Given the description of an element on the screen output the (x, y) to click on. 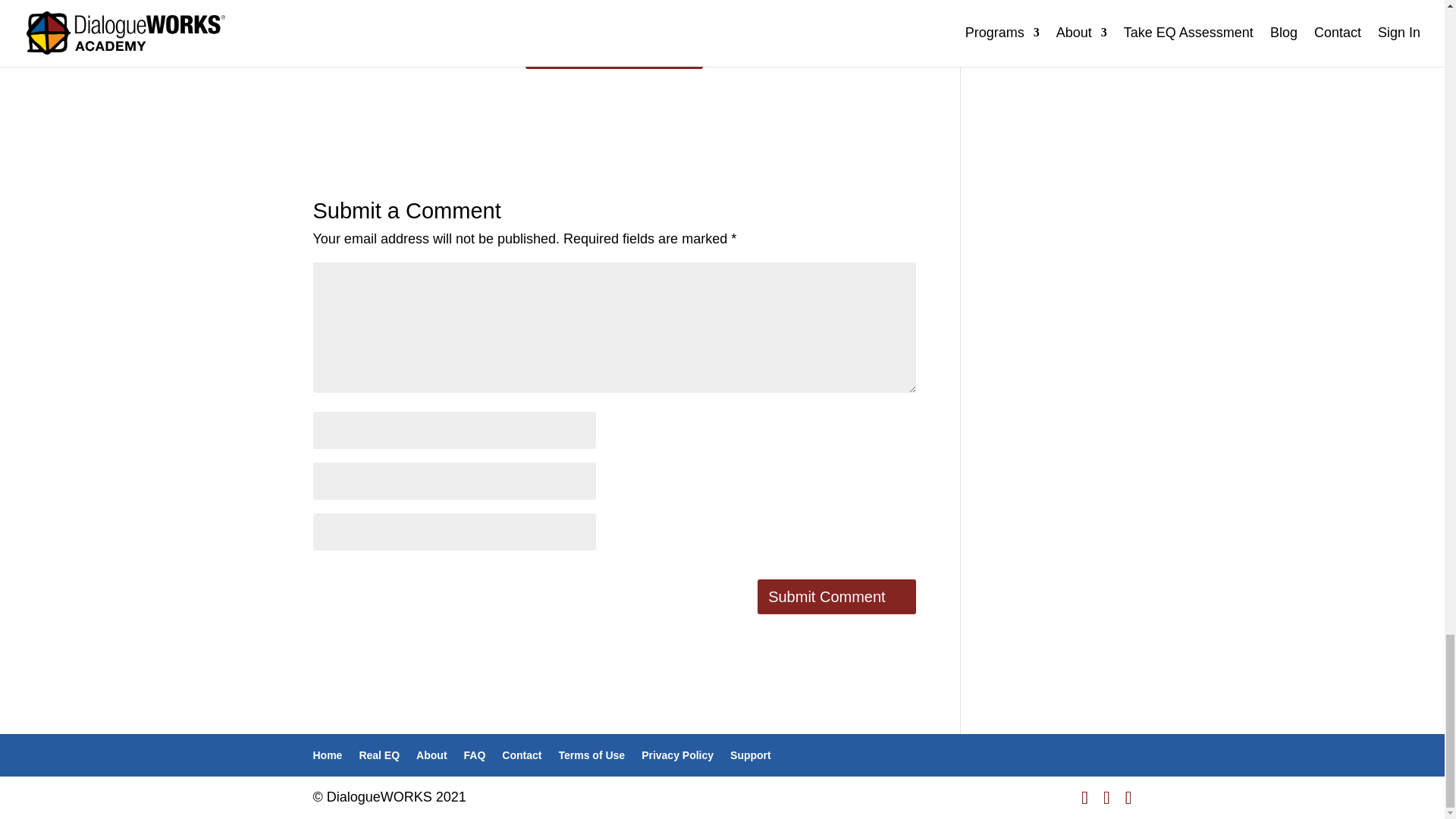
About (431, 755)
FAQ (475, 755)
Contact (521, 755)
Privacy Policy (677, 755)
Support (750, 755)
Click Here To Watch (614, 51)
Terms of Use (590, 755)
Real EQ (378, 755)
Home (327, 755)
Submit Comment (836, 596)
Submit Comment (836, 596)
